Given the description of an element on the screen output the (x, y) to click on. 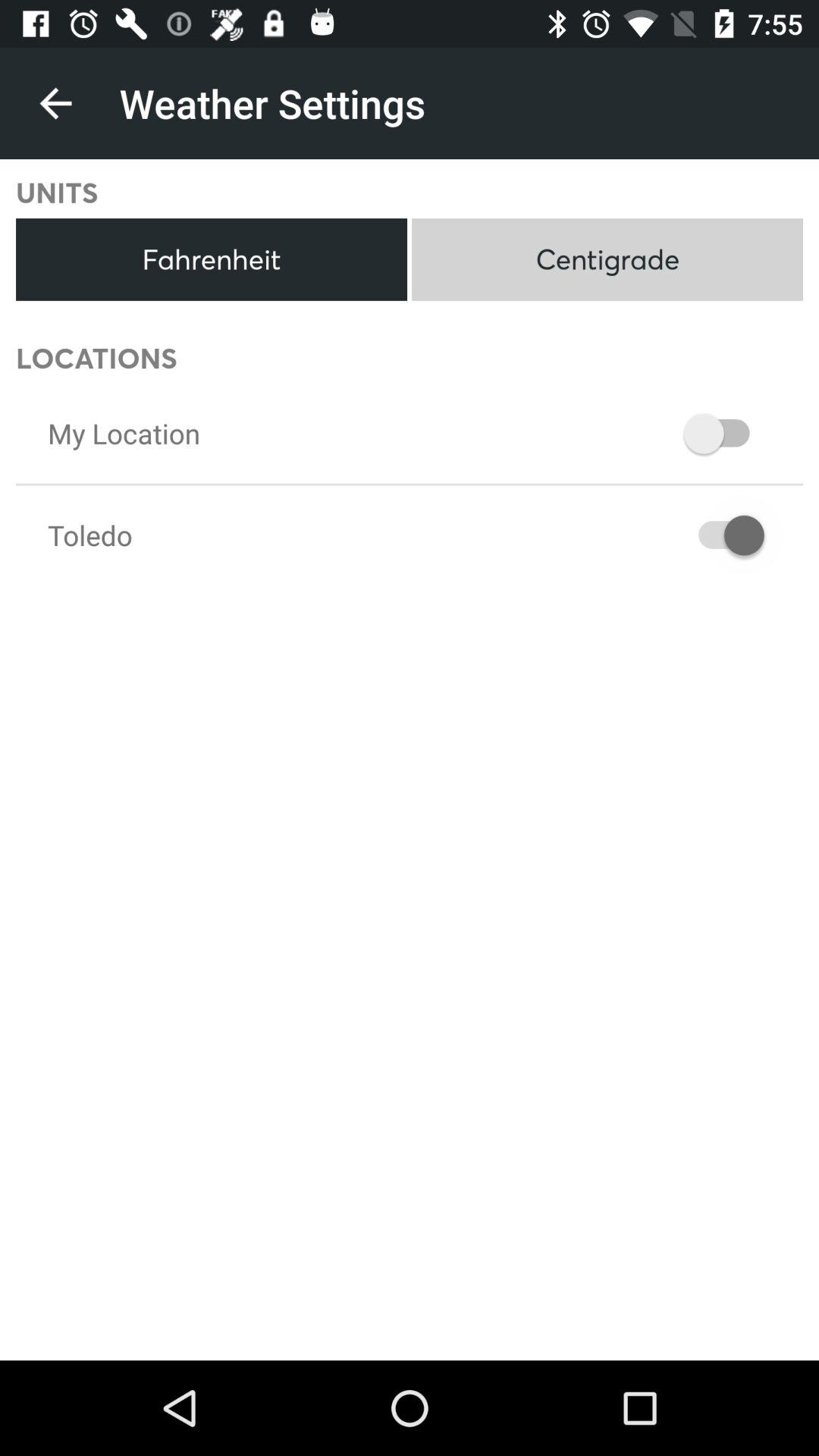
open item to the left of centigrade item (211, 259)
